Given the description of an element on the screen output the (x, y) to click on. 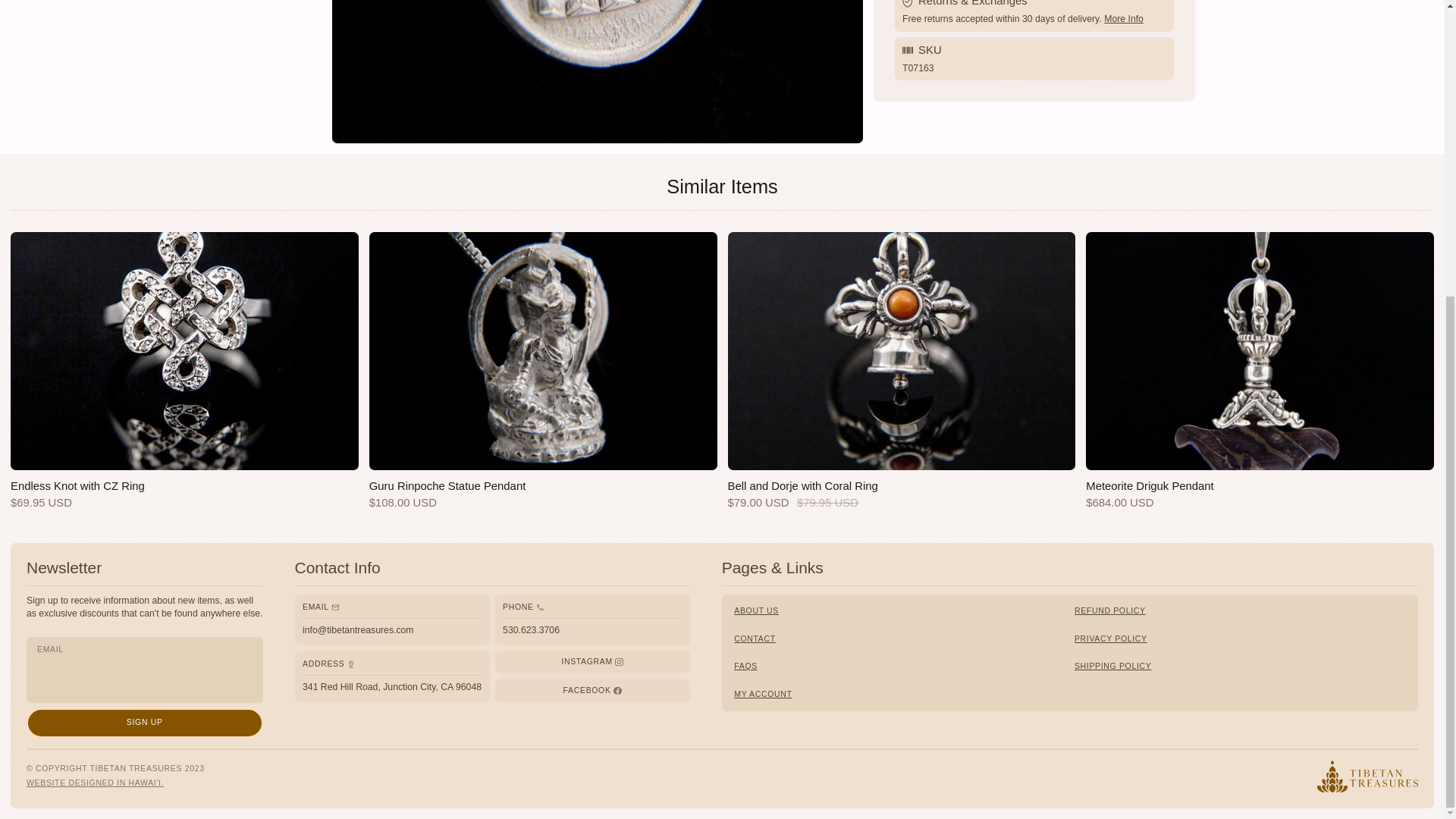
Sign Up (144, 722)
